Given the description of an element on the screen output the (x, y) to click on. 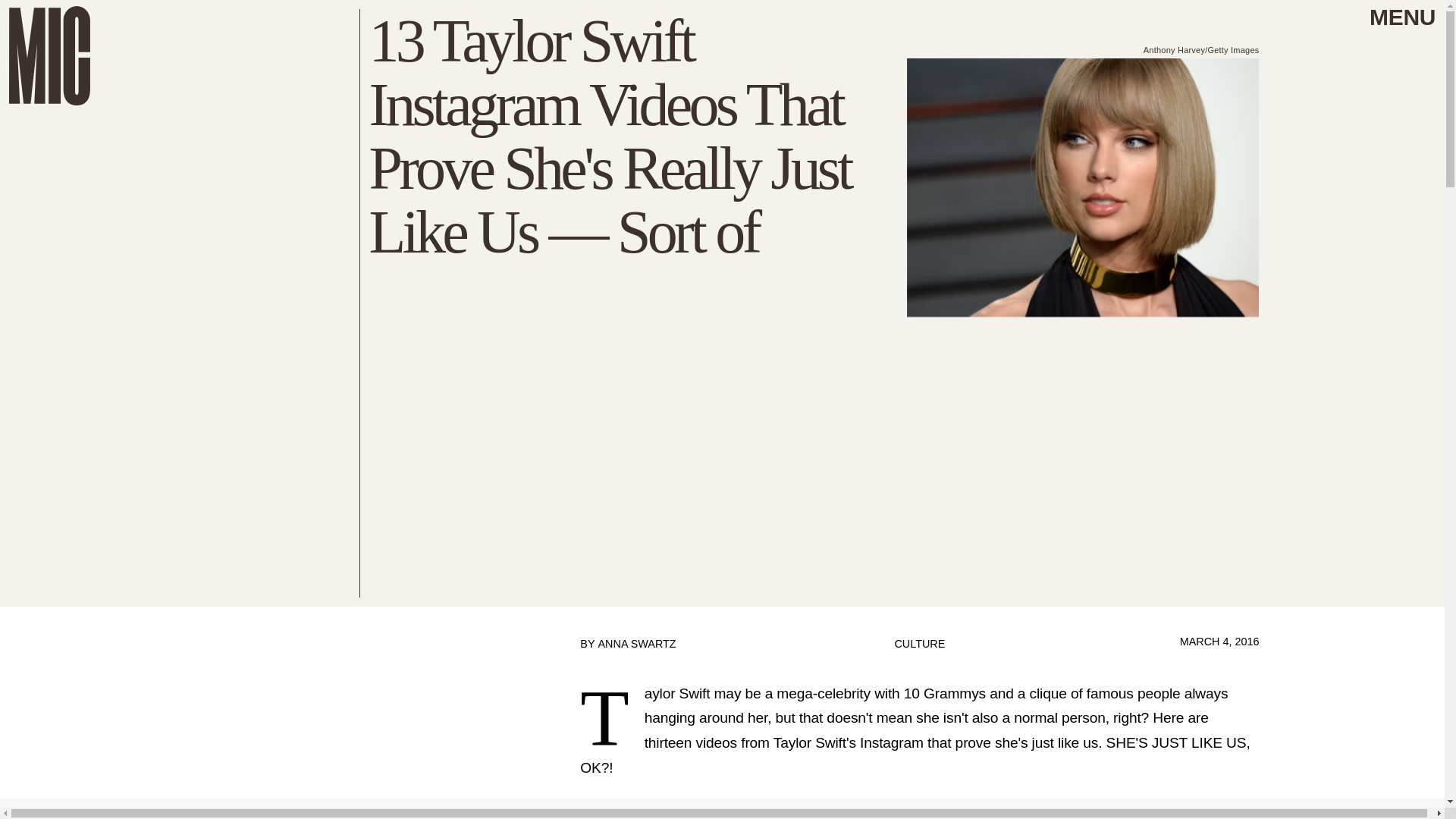
ANNA SWARTZ (635, 644)
